Given the description of an element on the screen output the (x, y) to click on. 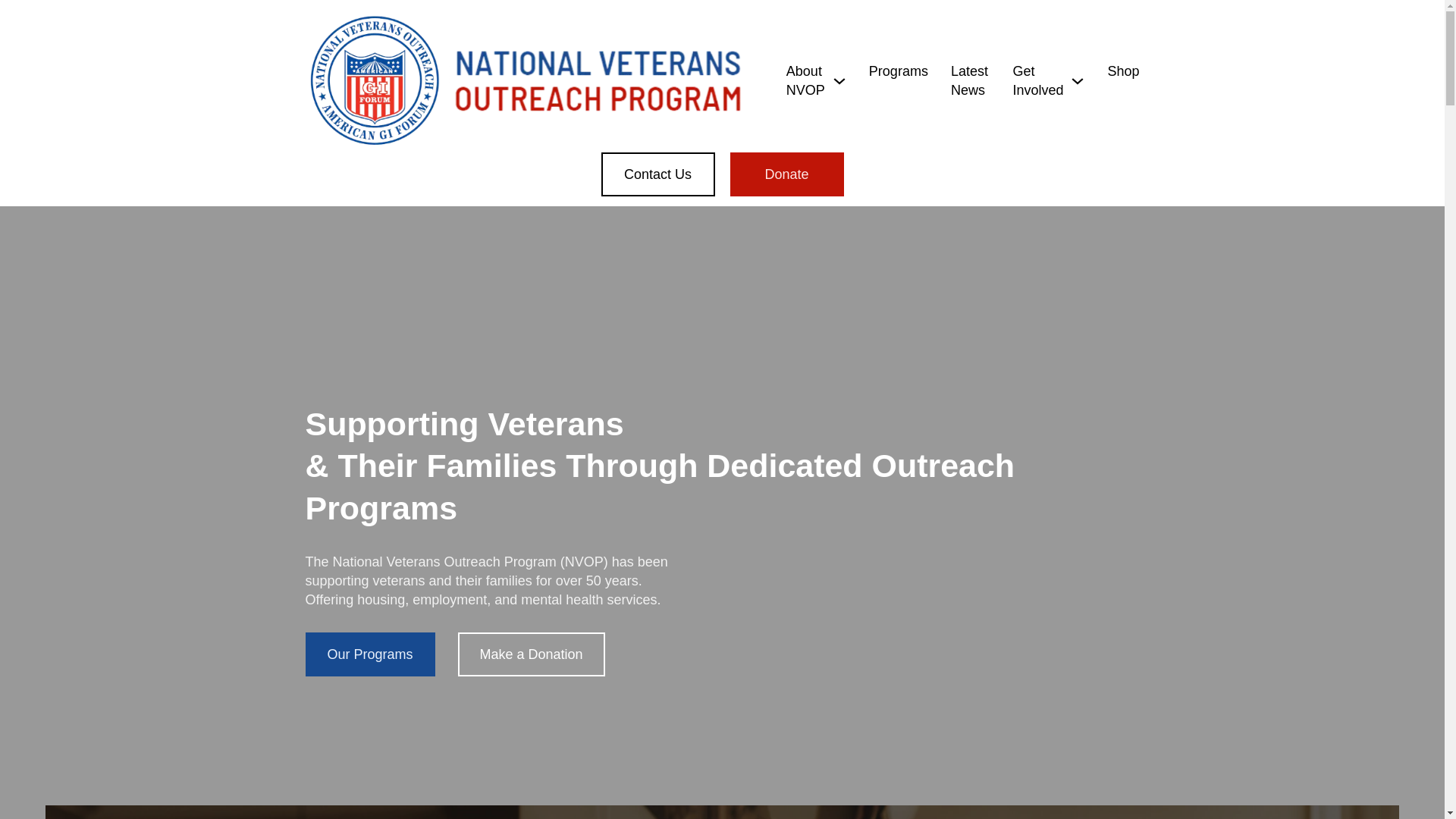
Latest News (970, 80)
Contact Us (656, 174)
Our Programs (368, 654)
Make a Donation (531, 654)
Shop (1122, 71)
Donate (786, 174)
About NVOP (805, 80)
Programs (898, 71)
Get Involved (1036, 80)
